Given the description of an element on the screen output the (x, y) to click on. 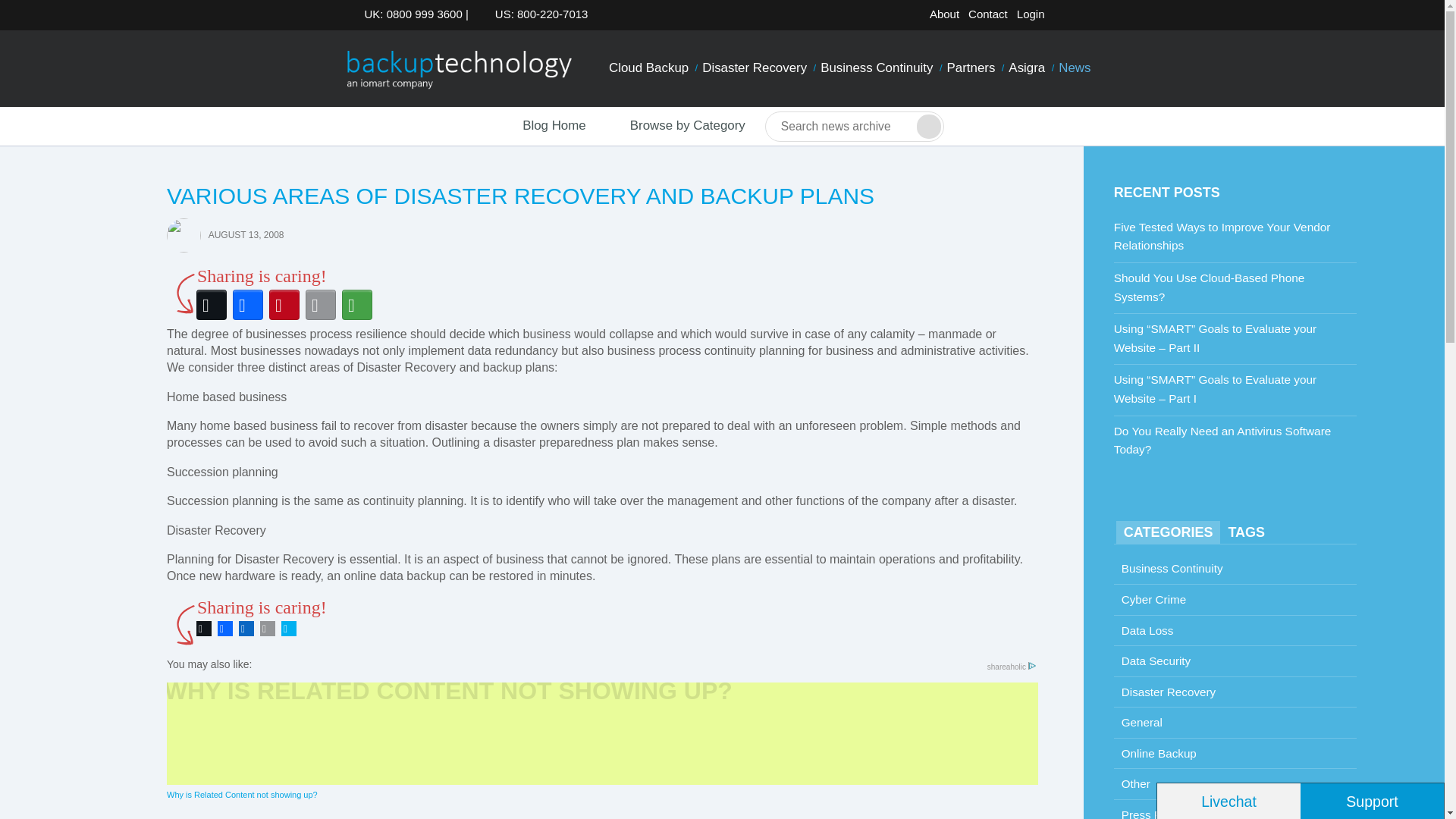
Facebook (224, 628)
Facebook (248, 304)
US: 800-220-7013 (536, 14)
Why is Related Content not showing up? (602, 741)
Cloud Backup (648, 68)
View all posts by . (183, 234)
Asigra (1026, 68)
LinkedIn (246, 628)
Email This (320, 304)
Email This (267, 628)
Browse by Category (675, 126)
Contact (987, 14)
Partners (971, 68)
Login (1030, 14)
About (943, 14)
